Given the description of an element on the screen output the (x, y) to click on. 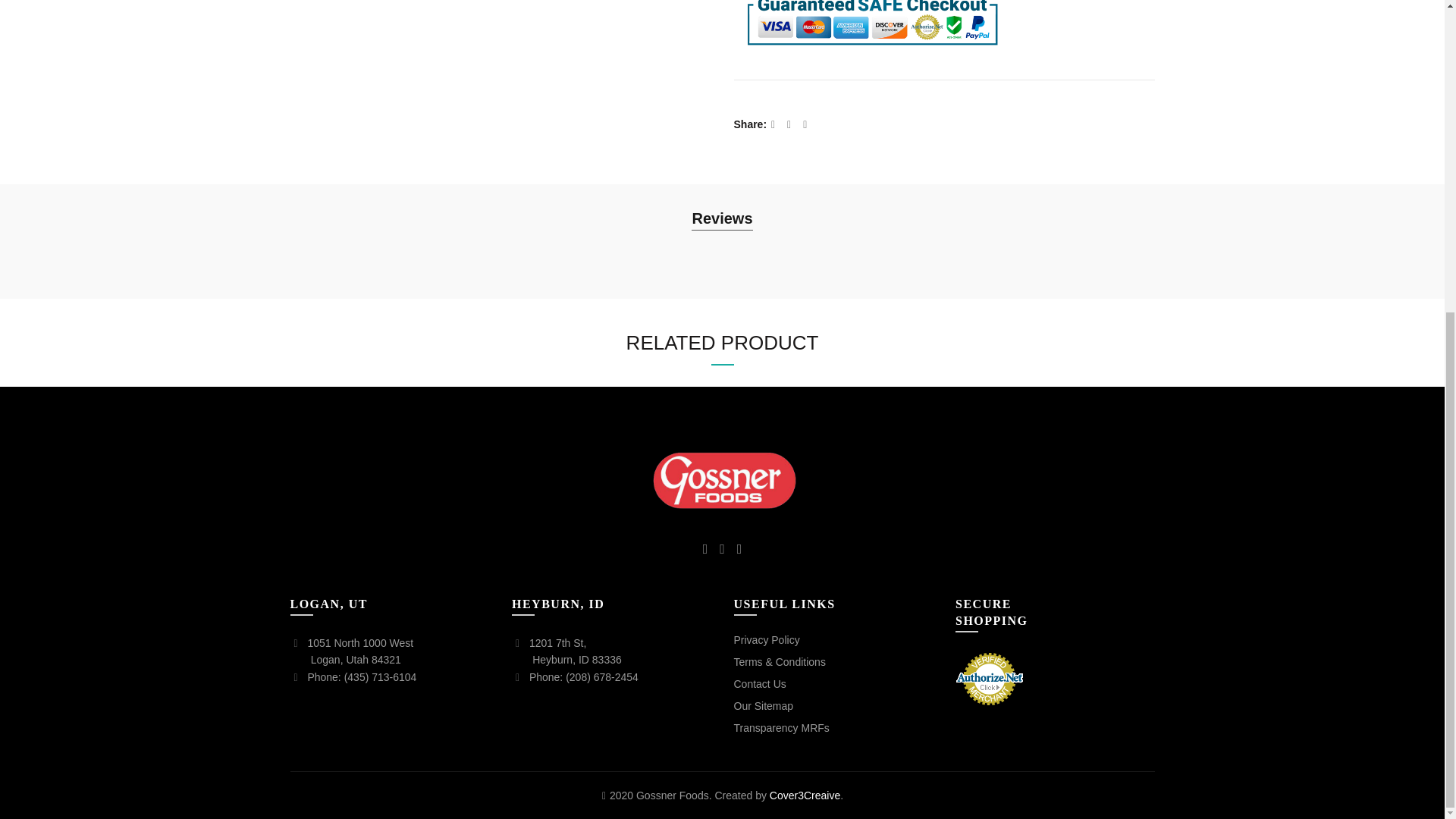
Gossner Foods (721, 481)
